Given the description of an element on the screen output the (x, y) to click on. 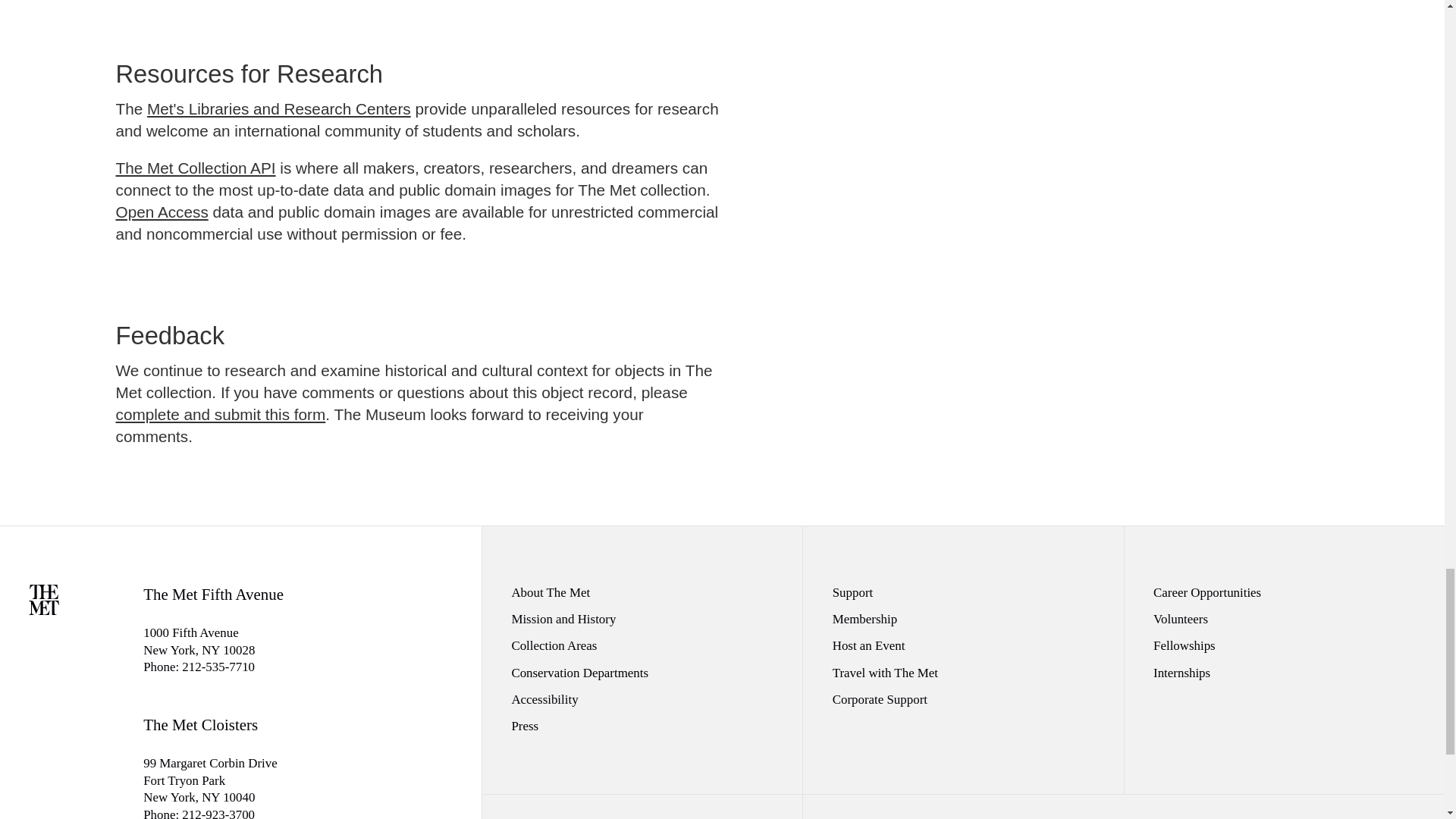
Homepage (44, 609)
